Given the description of an element on the screen output the (x, y) to click on. 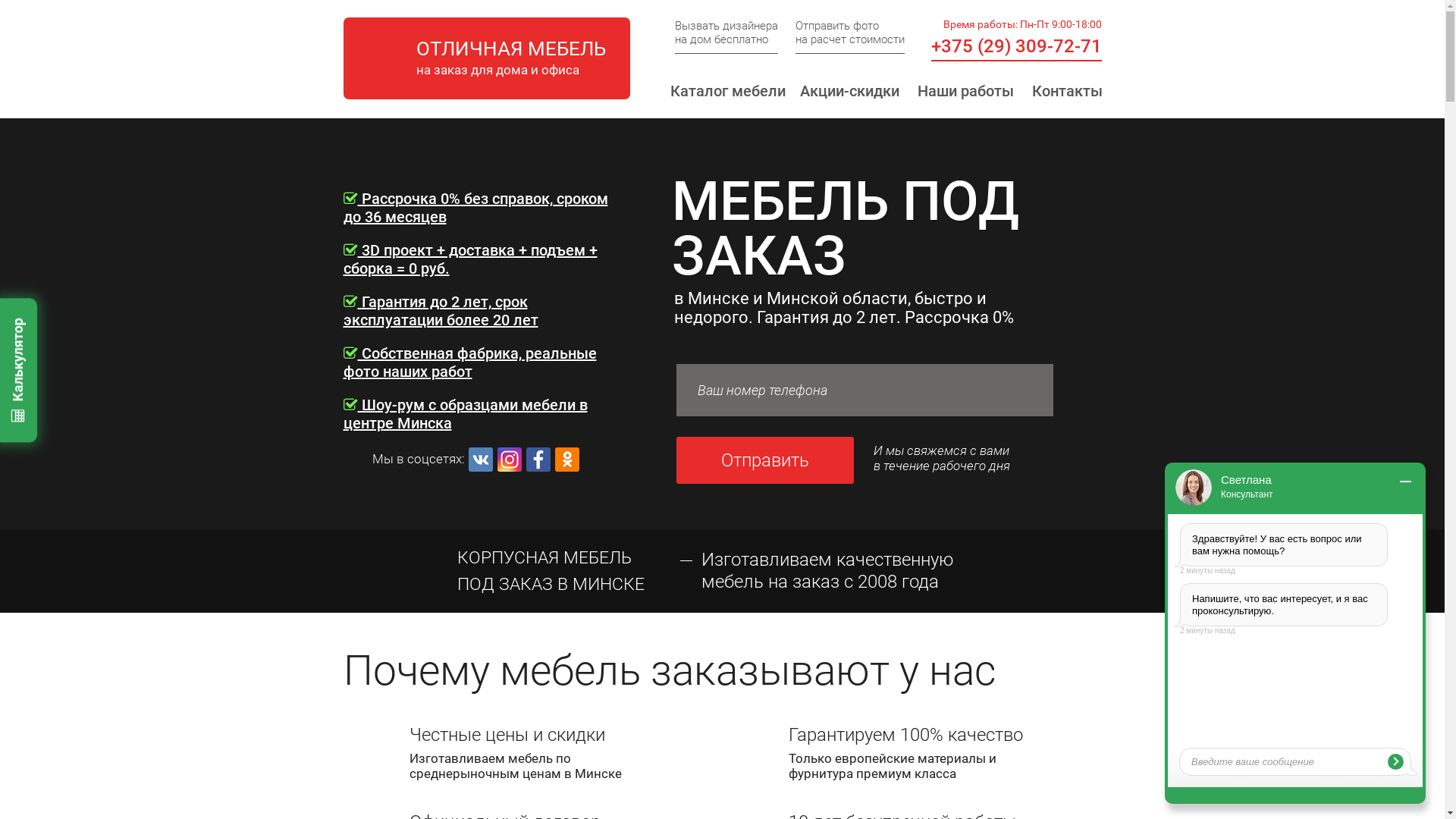
+375 (29) 309-72-71 Element type: text (1016, 45)
